Given the description of an element on the screen output the (x, y) to click on. 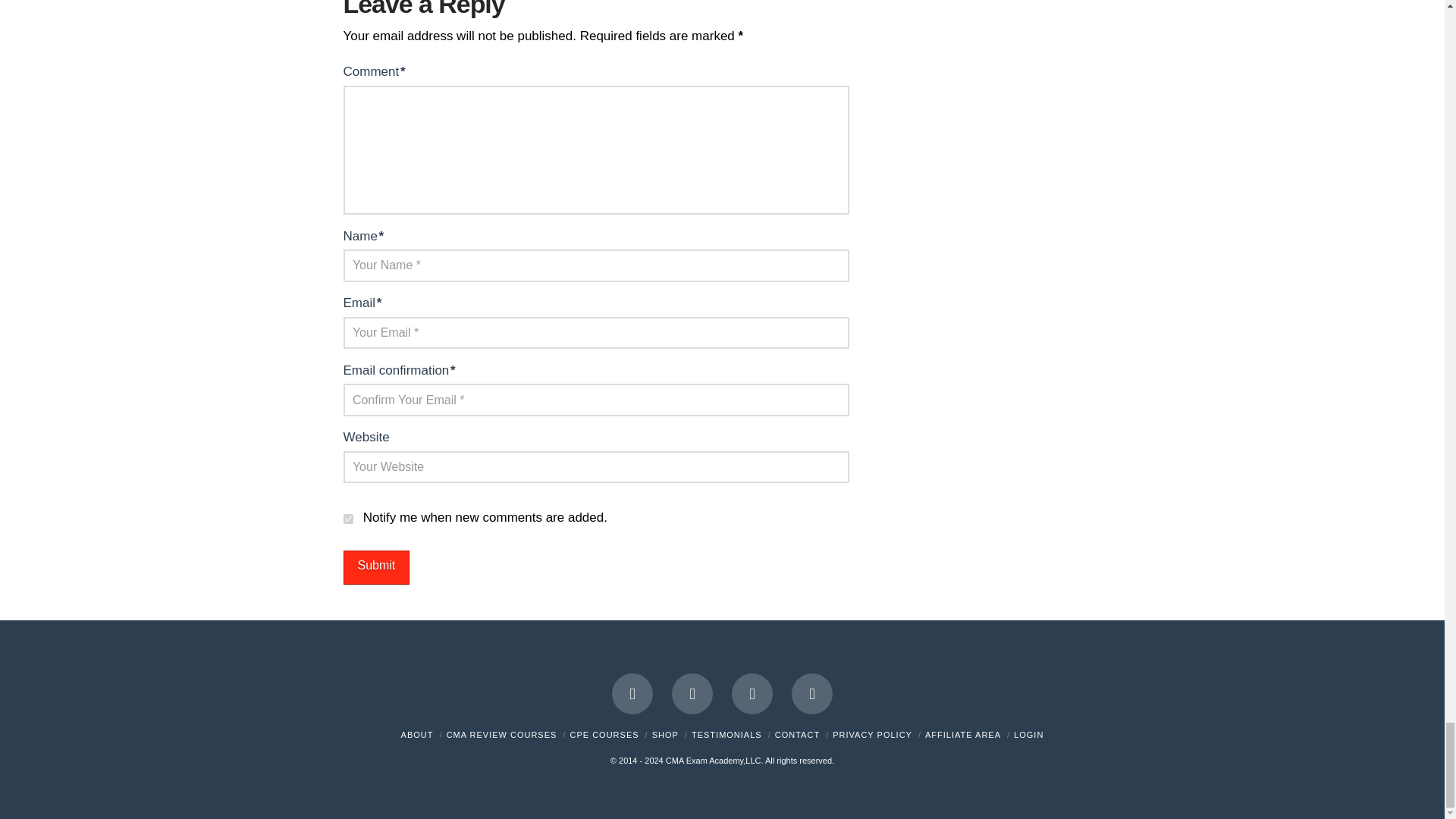
LinkedIn (692, 693)
1 (347, 519)
Instagram (812, 693)
Submit (375, 567)
YouTube (752, 693)
